Given the description of an element on the screen output the (x, y) to click on. 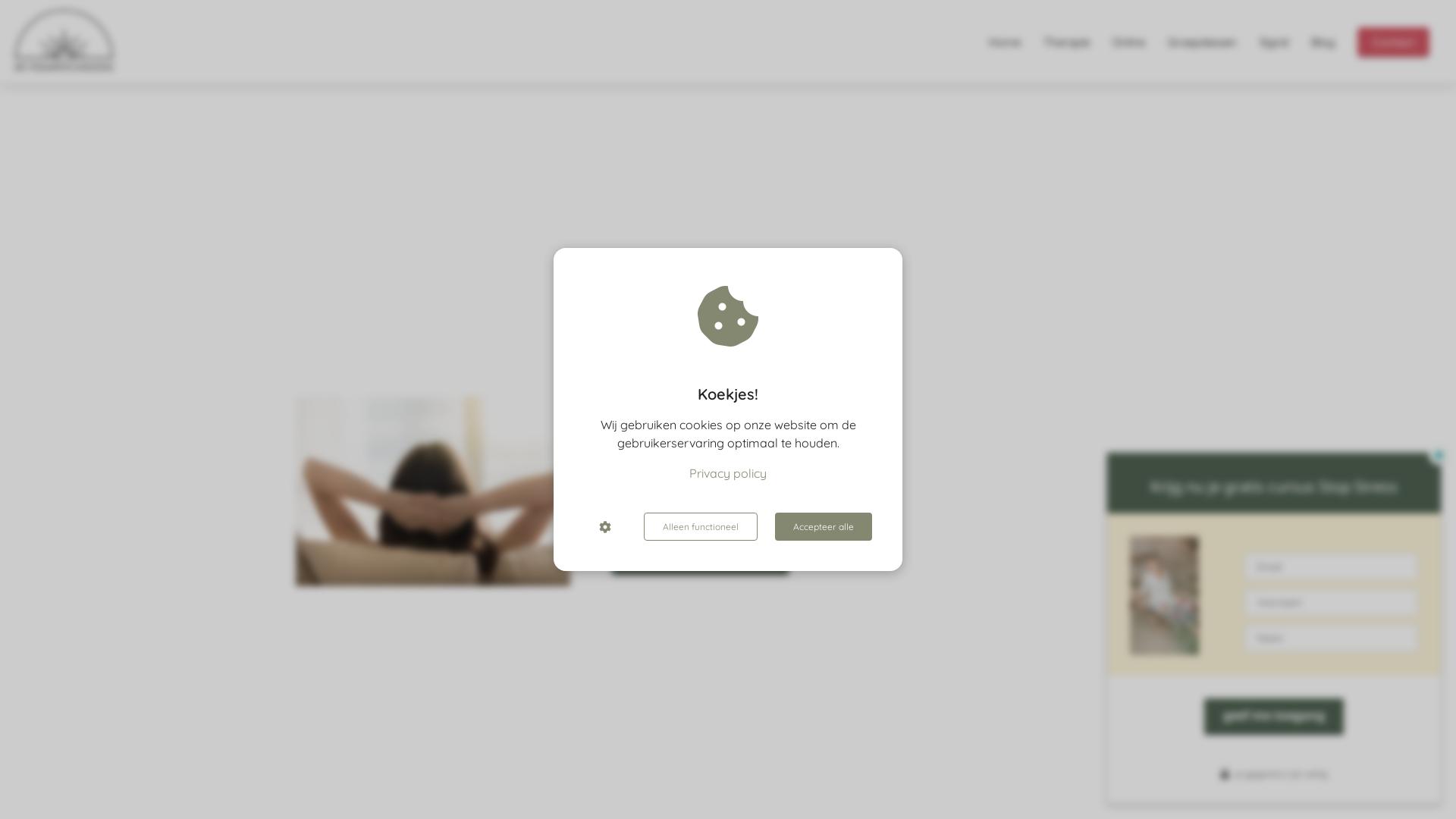
Privacy policy Element type: text (727, 473)
Blog Element type: text (1322, 40)
je gegevens zijn veilig Element type: text (1281, 773)
Online Element type: text (1128, 40)
Logo Element type: hover (137, 39)
naar de homepagina Element type: text (699, 556)
Home Element type: text (1004, 40)
Therapie Element type: text (1066, 40)
Sigrid Element type: text (1273, 40)
Groepslessen Element type: text (1202, 40)
Contact Element type: text (1393, 40)
